Given the description of an element on the screen output the (x, y) to click on. 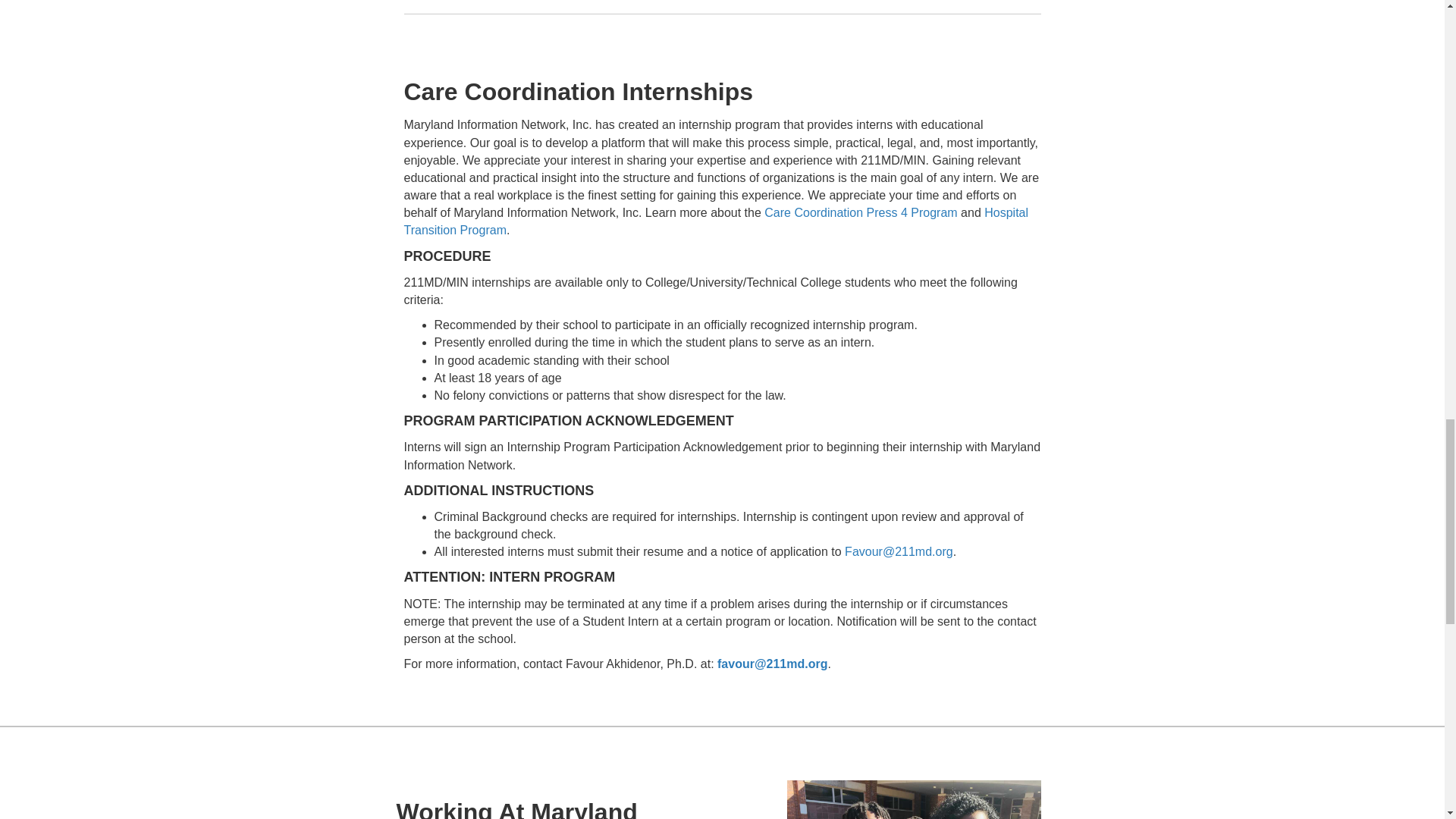
Care Coordination Press 4 Program (860, 212)
Hospital Transition Program (715, 221)
Care coordination team meeting at a hospital (914, 799)
